Given the description of an element on the screen output the (x, y) to click on. 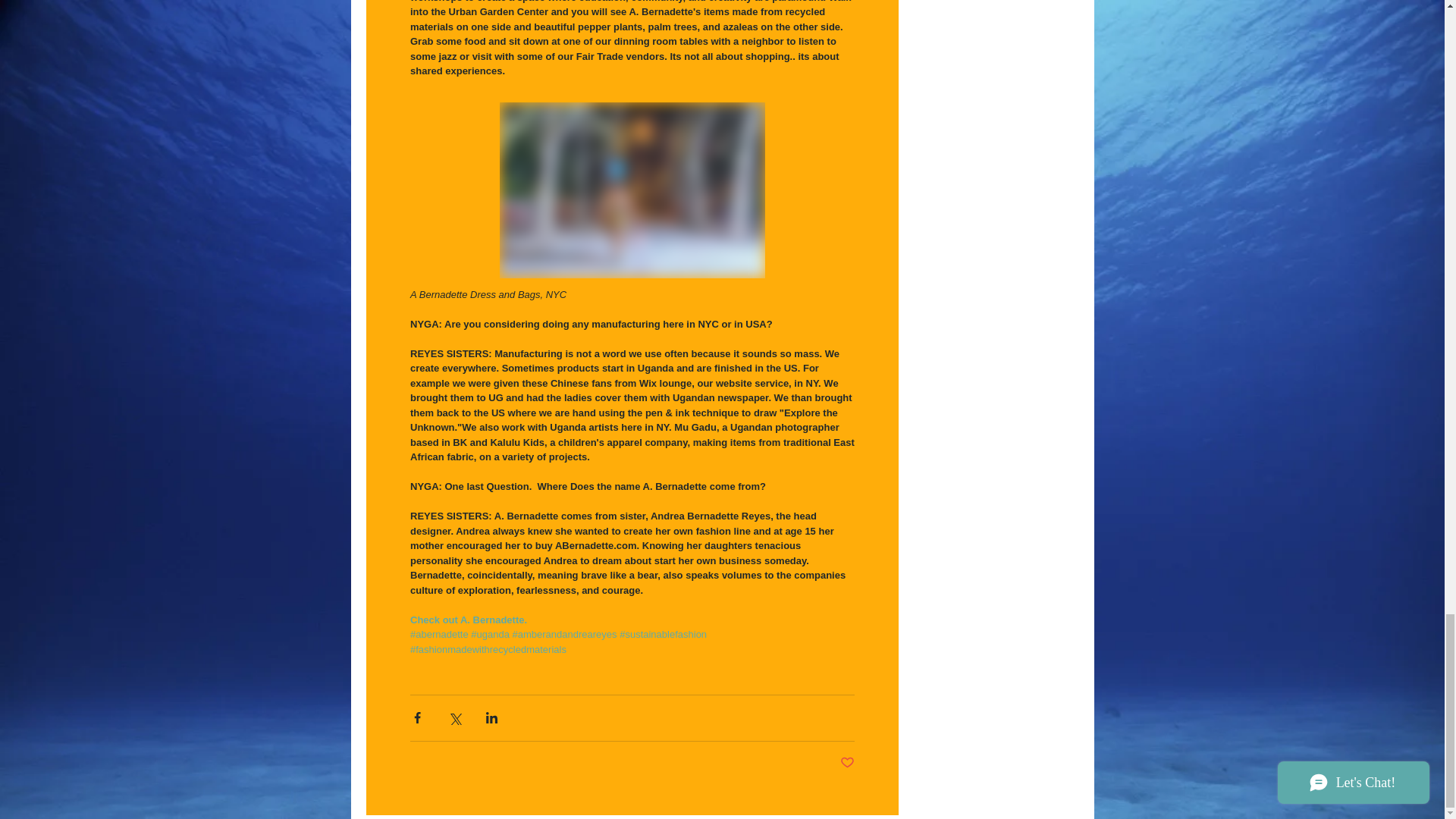
Check out A. Bernadette. (467, 618)
Post not marked as liked (847, 763)
